Given the description of an element on the screen output the (x, y) to click on. 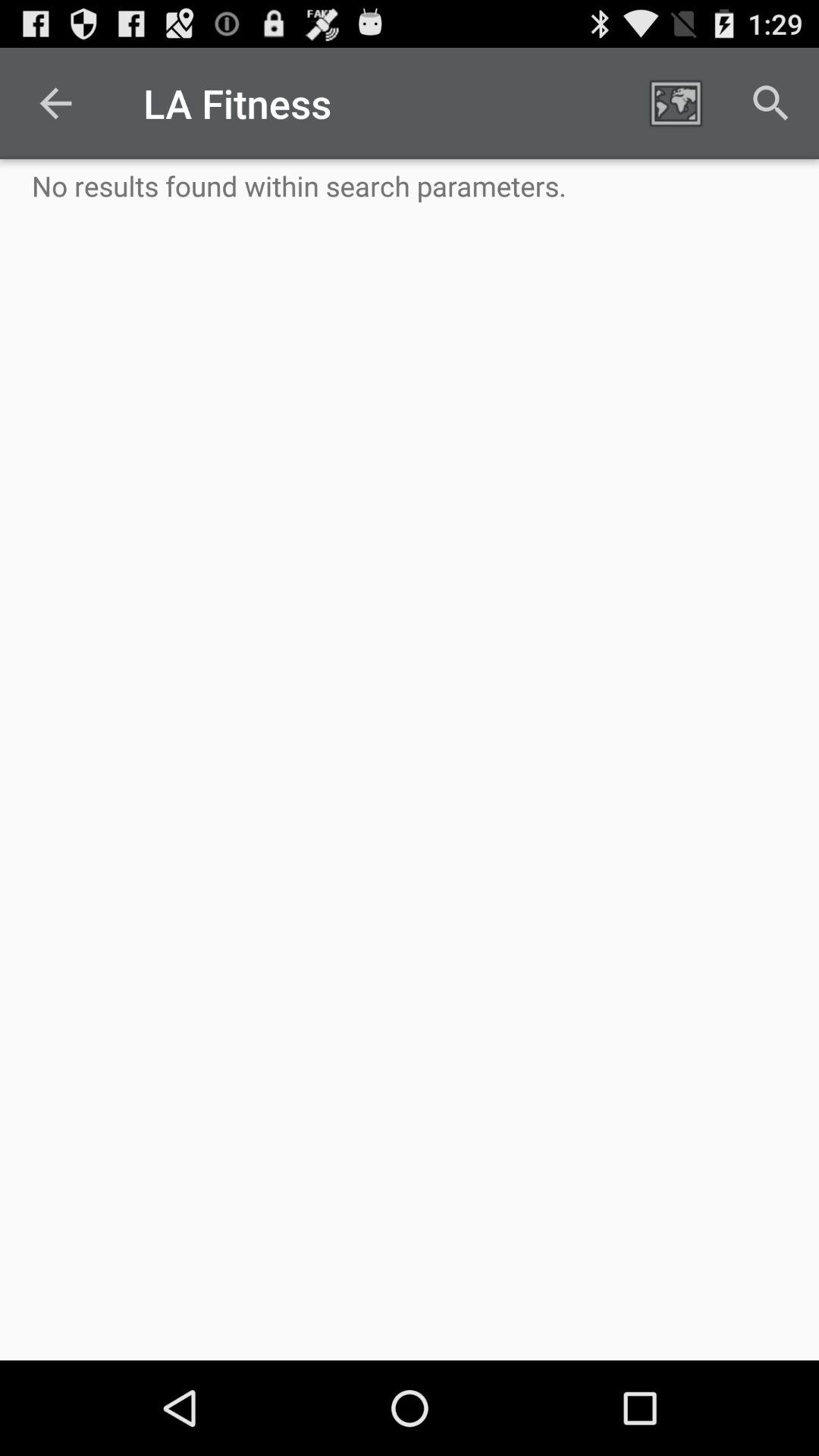
select icon to the right of the la fitness (675, 103)
